Given the description of an element on the screen output the (x, y) to click on. 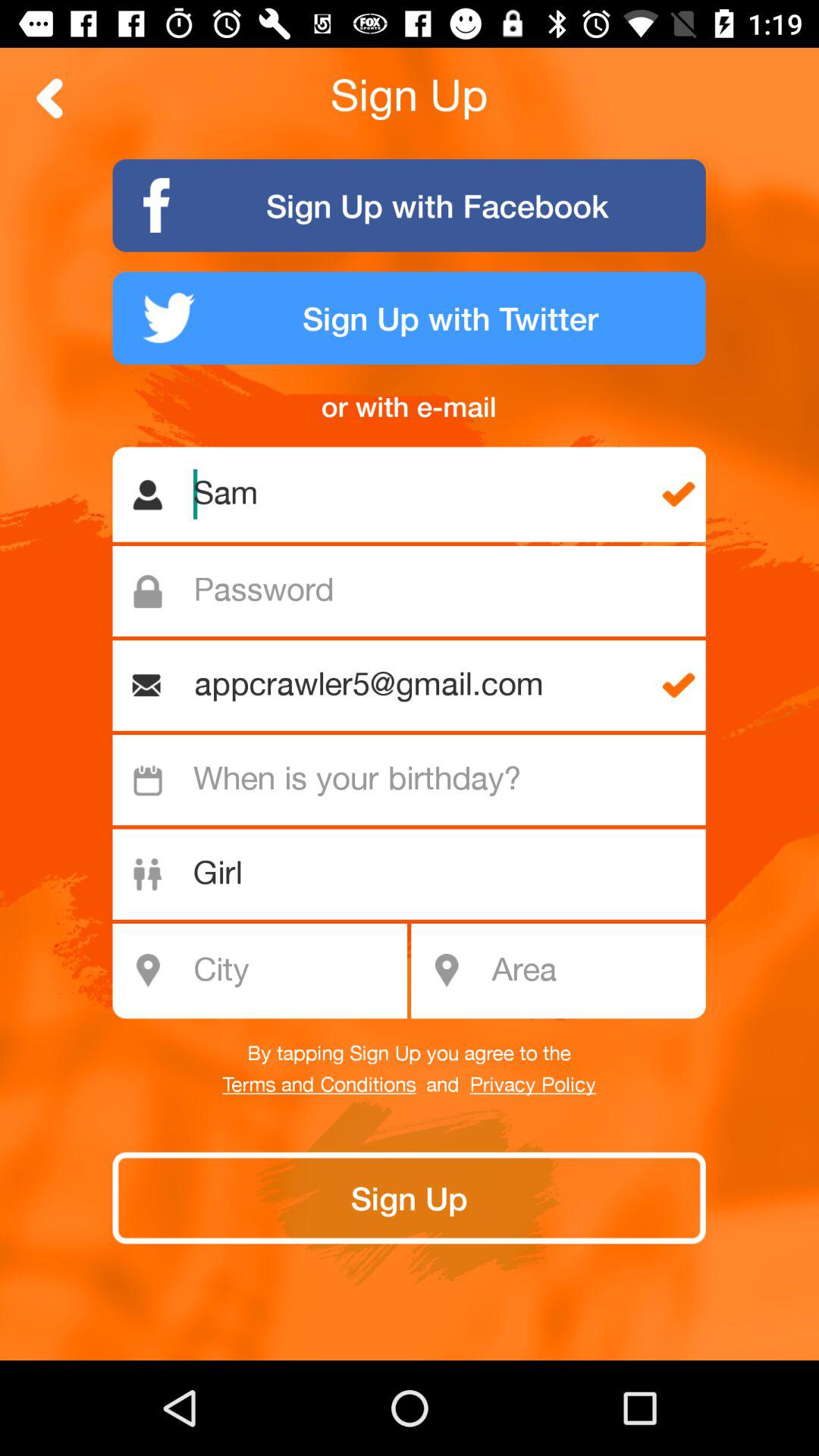
insert city (268, 970)
